Given the description of an element on the screen output the (x, y) to click on. 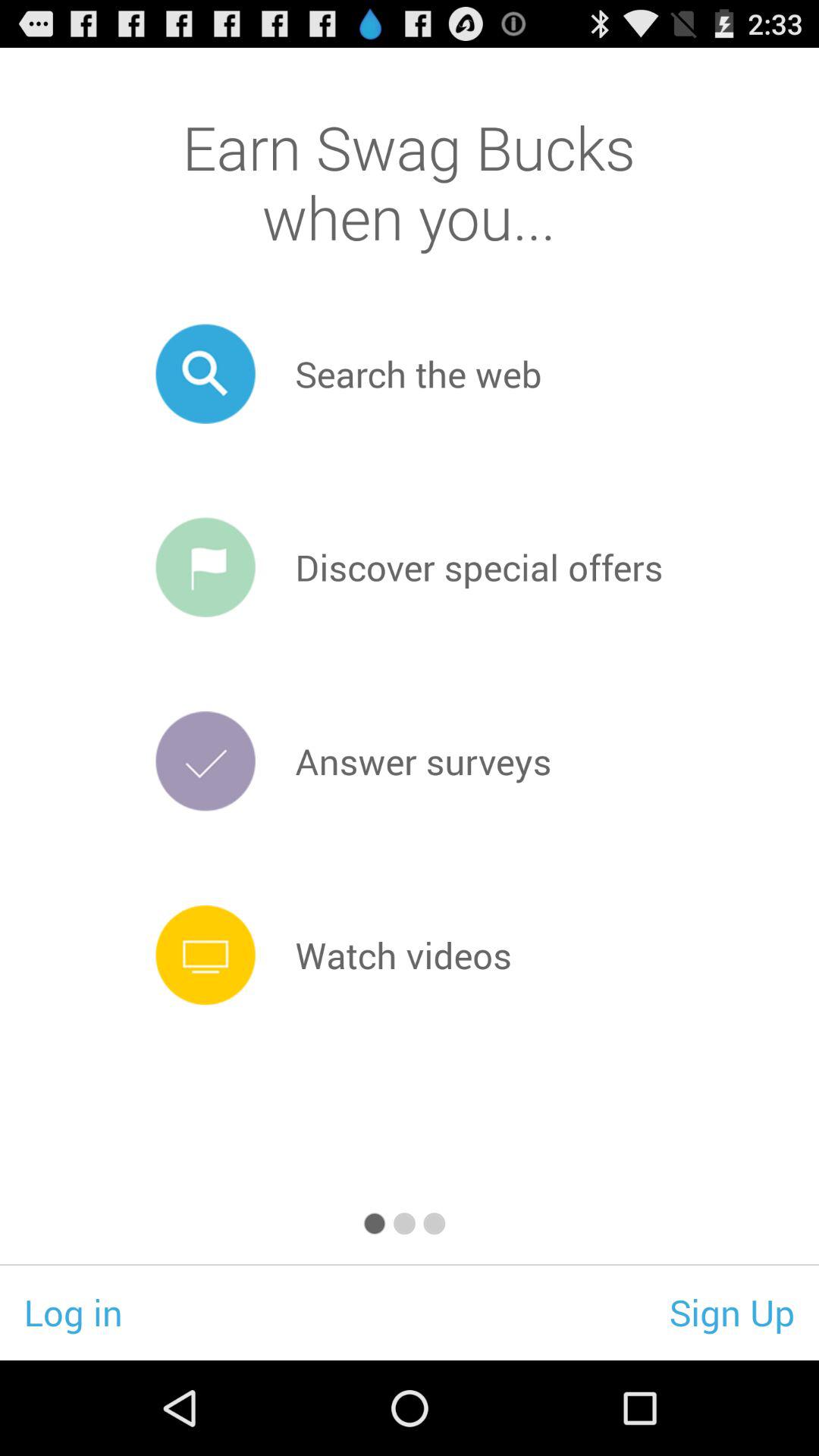
click the icon to the left of sign up app (73, 1312)
